Given the description of an element on the screen output the (x, y) to click on. 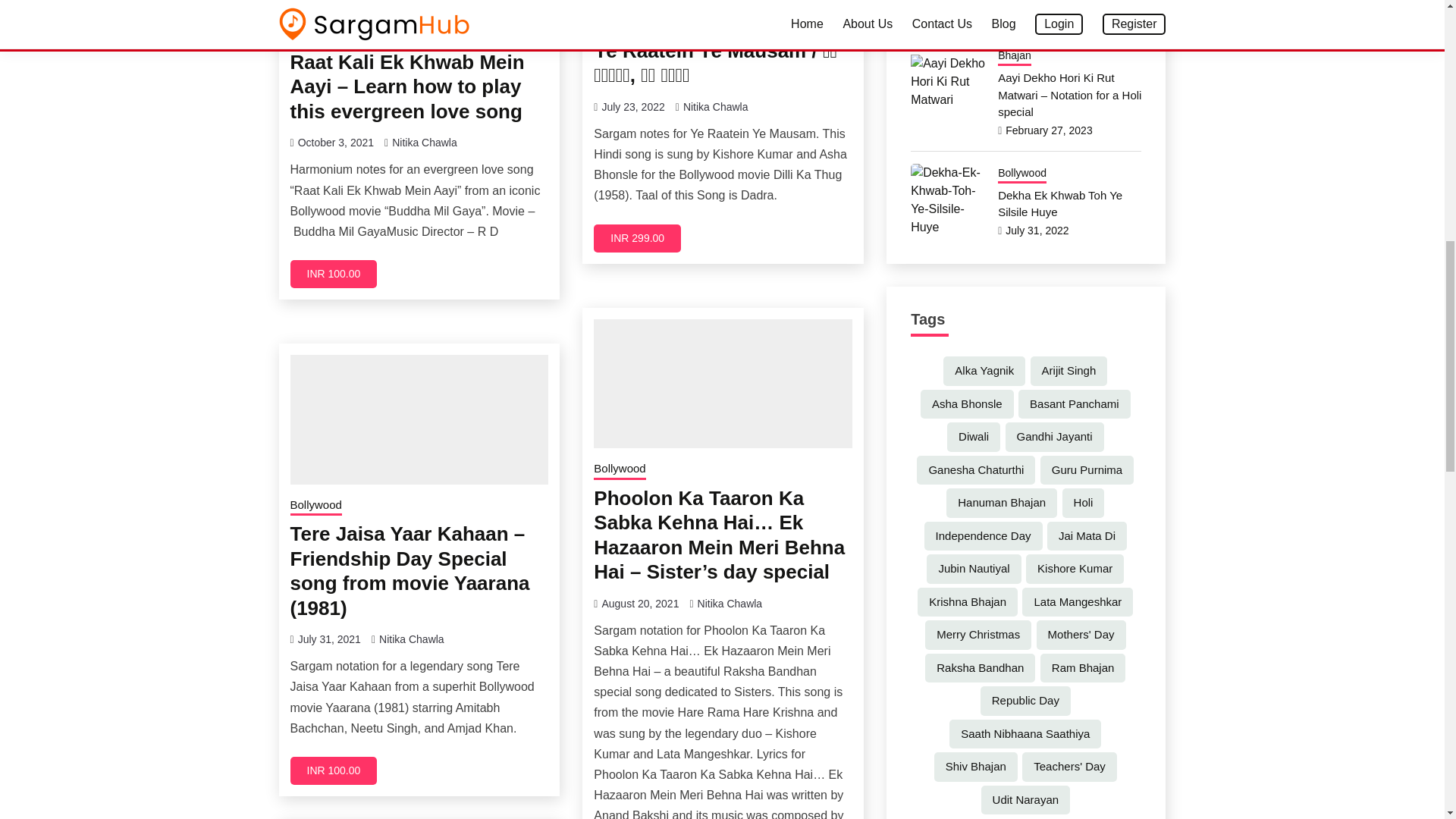
October 3, 2021 (336, 142)
Nitika Chawla (715, 106)
July 23, 2022 (632, 106)
INR 100.00 (333, 274)
Nitika Chawla (424, 142)
INR 299.00 (637, 238)
Bollywood (619, 469)
Bollywood (619, 22)
Bollywood (314, 34)
